Given the description of an element on the screen output the (x, y) to click on. 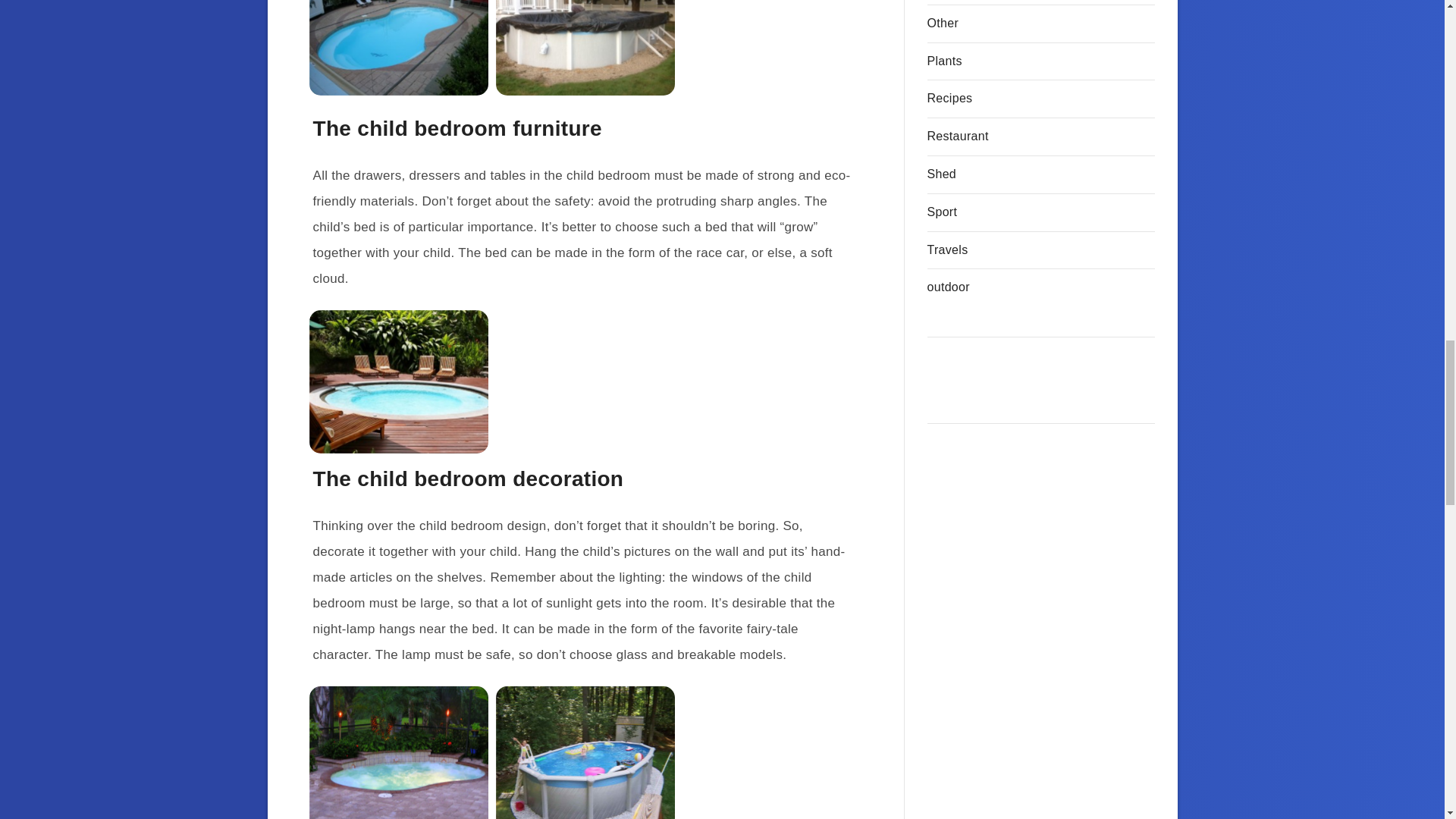
san-juan-fiberglass-pools (397, 47)
pictures-of-cool-swimming-pools-inground-pools (397, 752)
above-ground-pool-closing (585, 47)
above-ground-swimming-pools-designs (585, 752)
inground-pool-ideas-small-yards (397, 381)
